Given the description of an element on the screen output the (x, y) to click on. 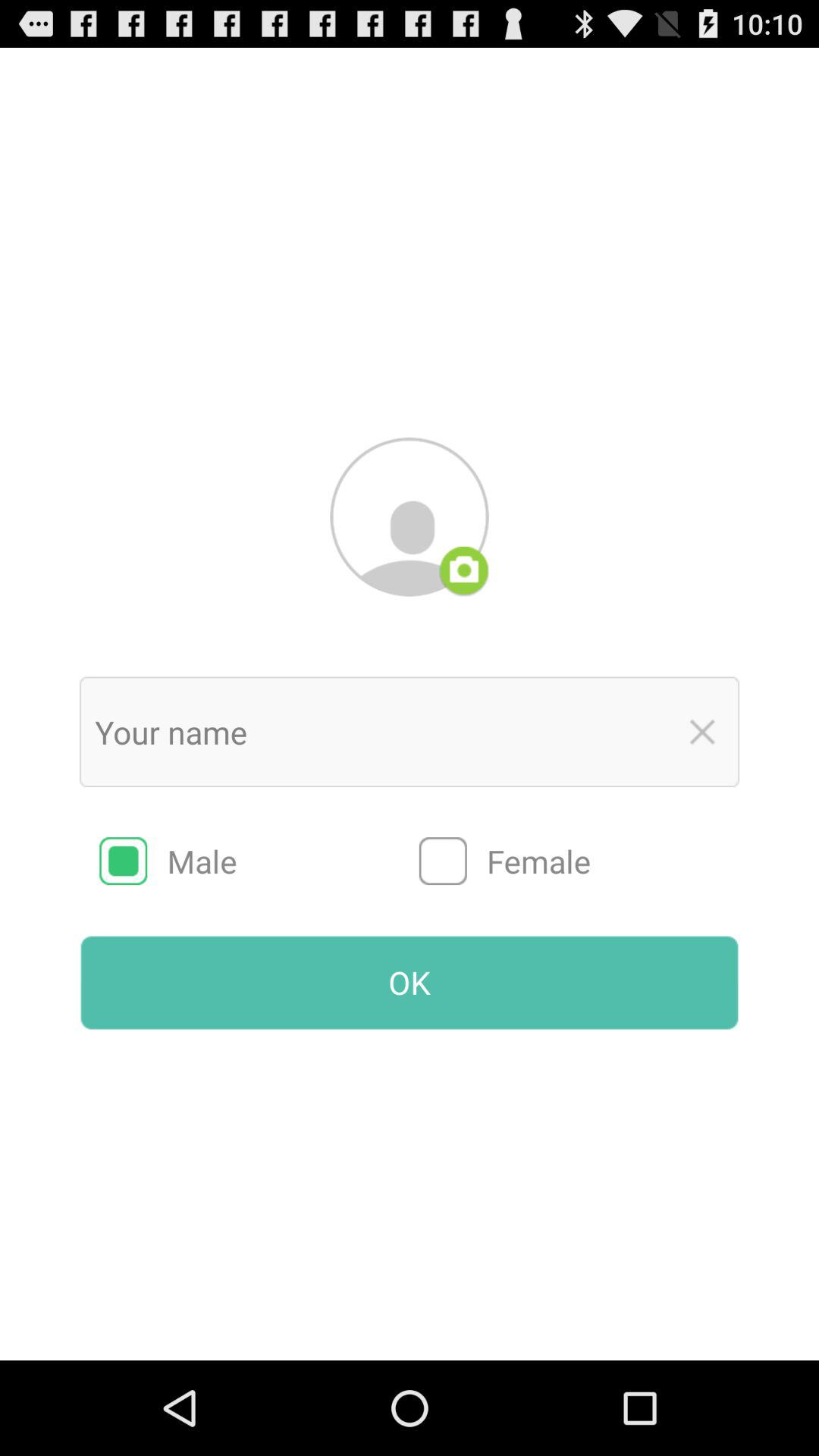
tap the item to the right of male icon (579, 860)
